Given the description of an element on the screen output the (x, y) to click on. 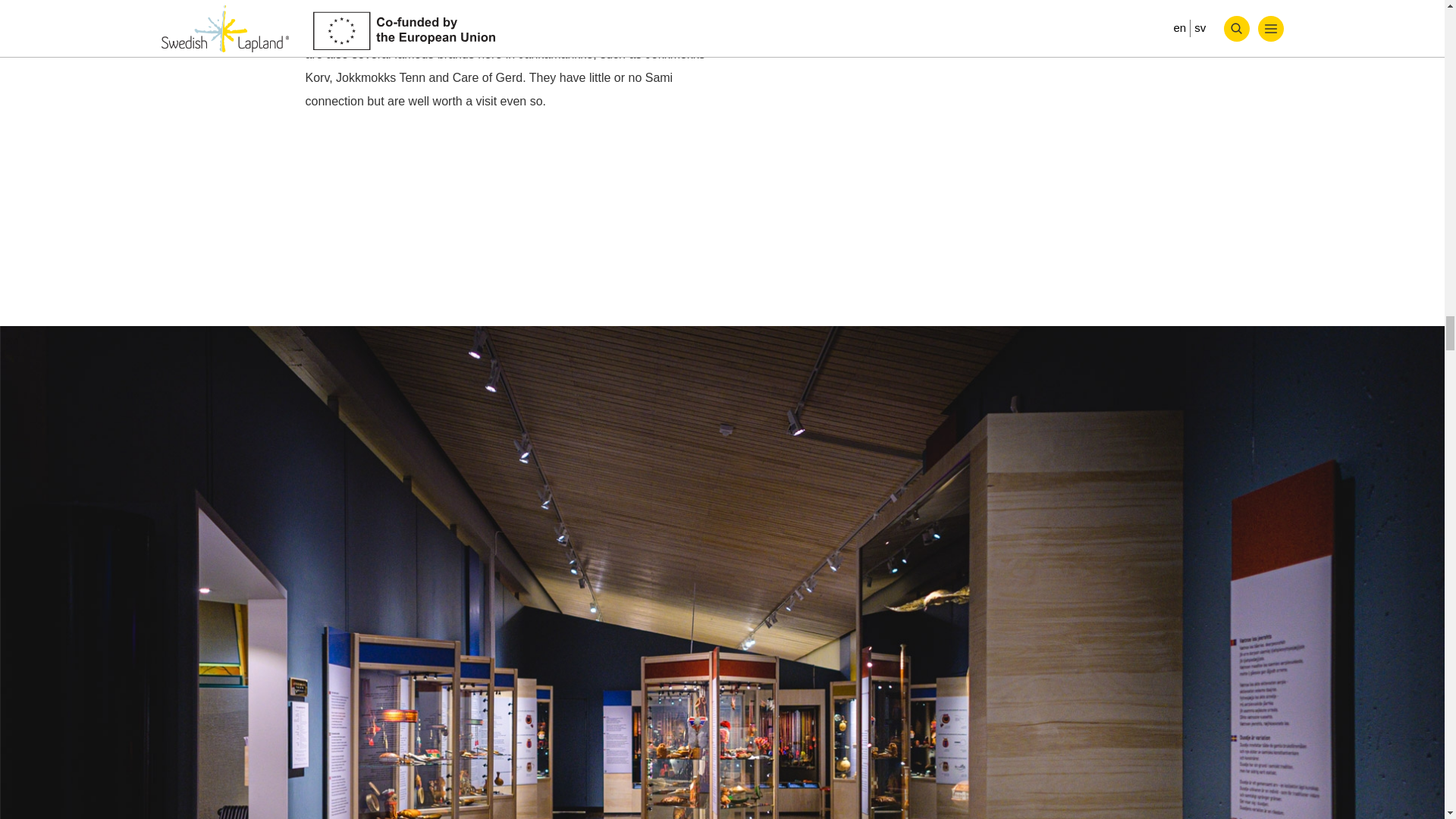
View full-screen (1410, 283)
